Given the description of an element on the screen output the (x, y) to click on. 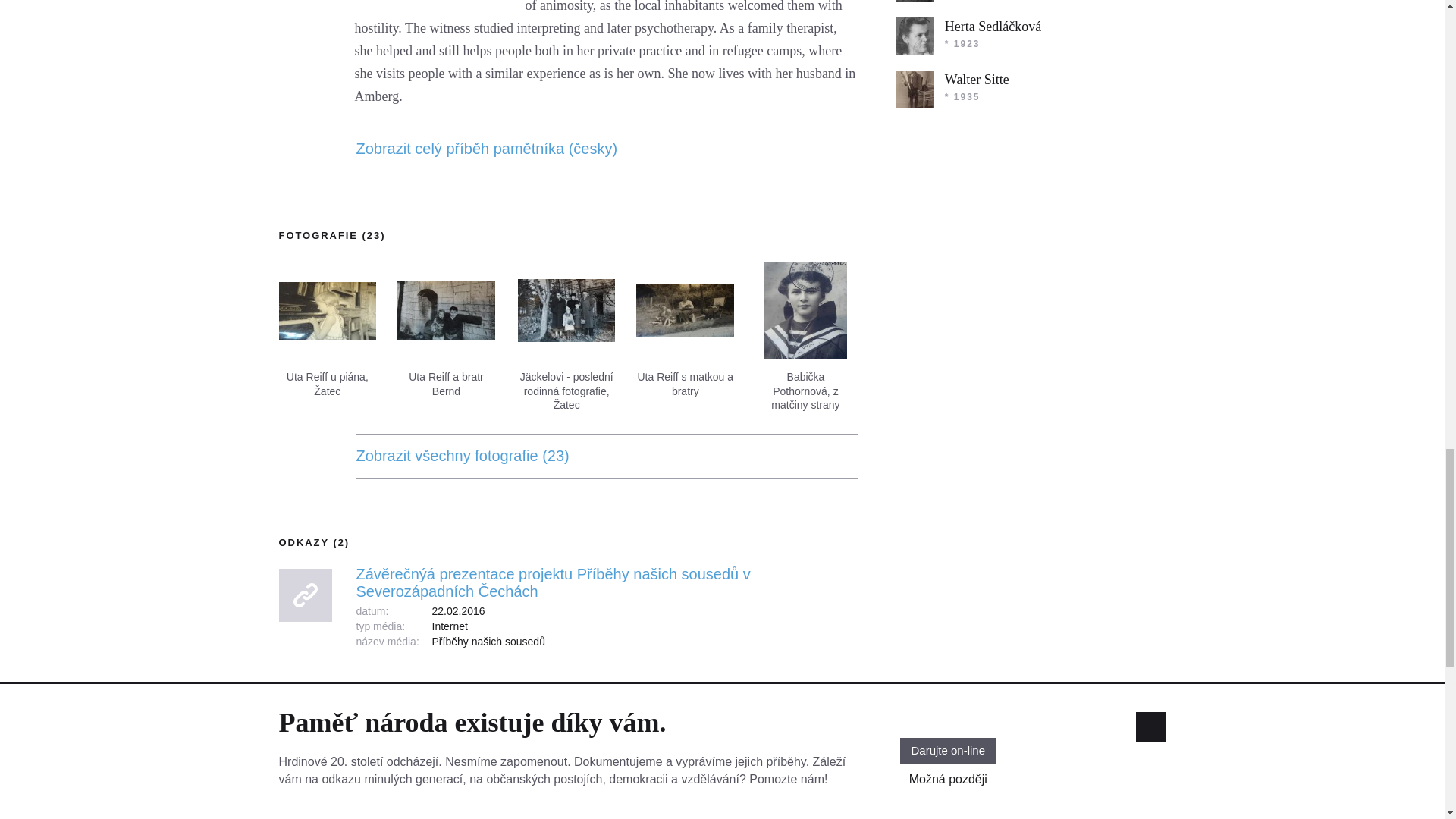
Uta Reiff a bratr Bernd (446, 310)
